Given the description of an element on the screen output the (x, y) to click on. 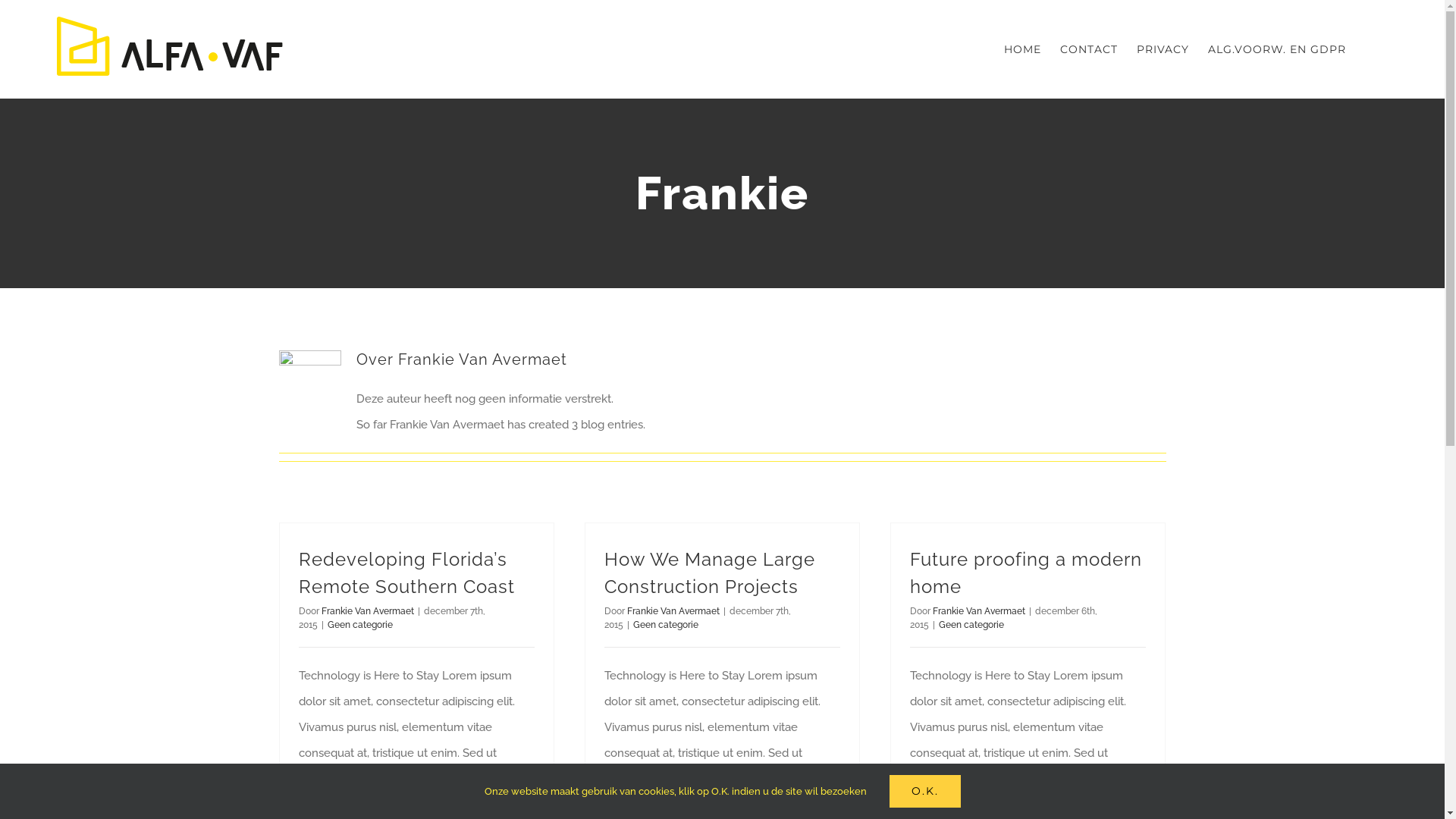
O.K. Element type: text (924, 791)
How We Manage Large Construction Projects Element type: text (708, 572)
PRIVACY Element type: text (1162, 49)
Frankie Van Avermaet Element type: text (672, 610)
Geen categorie Element type: text (359, 624)
ALG.VOORW. EN GDPR Element type: text (1277, 49)
Future proofing a modern home Element type: text (1026, 572)
HOME Element type: text (1022, 49)
Geen categorie Element type: text (664, 624)
Frankie Van Avermaet Element type: text (367, 610)
Frankie Van Avermaet Element type: text (978, 610)
CONTACT Element type: text (1088, 49)
Geen categorie Element type: text (971, 624)
